Given the description of an element on the screen output the (x, y) to click on. 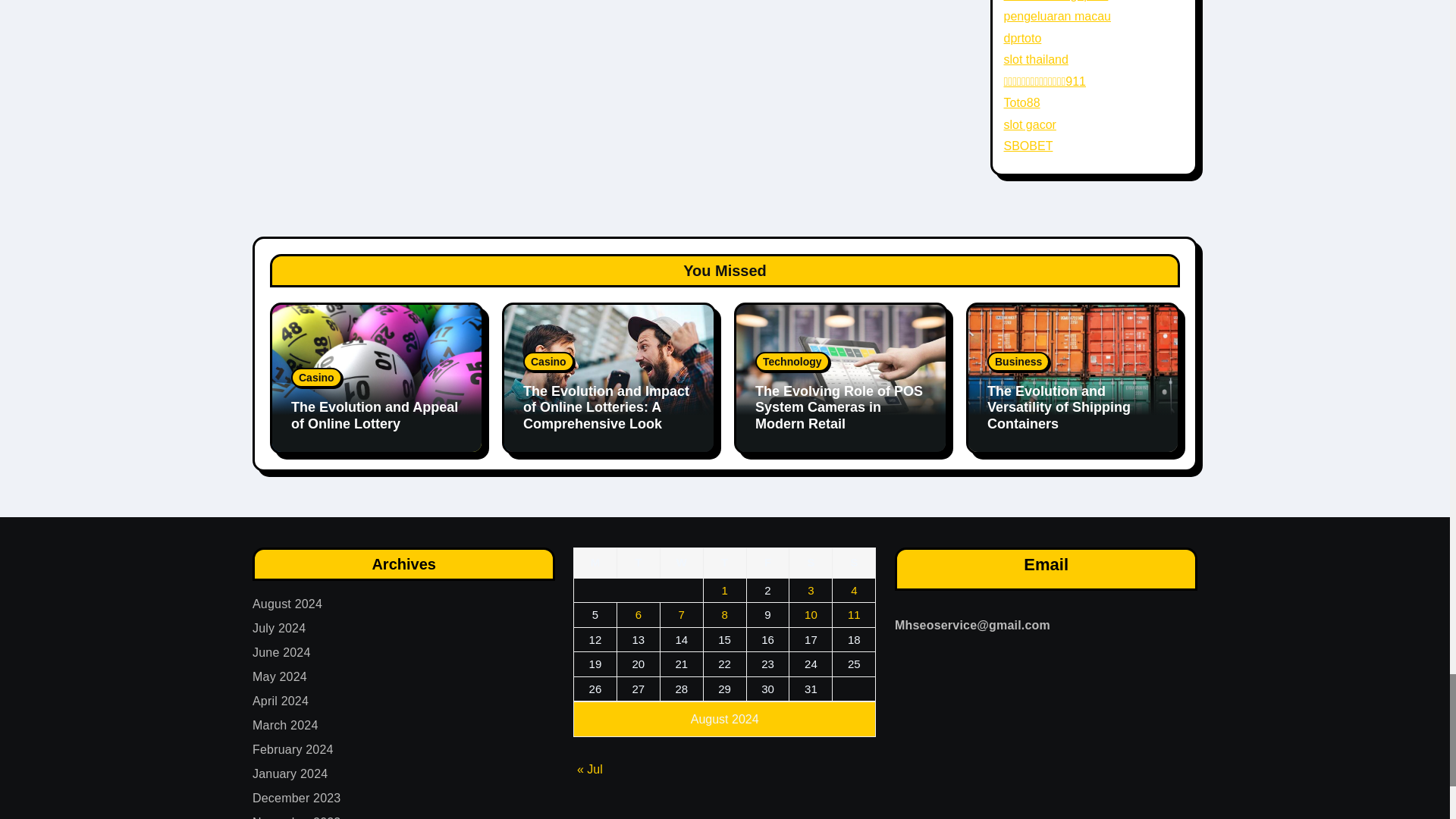
Permalink to: The Evolution and Appeal of Online Lottery (374, 415)
